Given the description of an element on the screen output the (x, y) to click on. 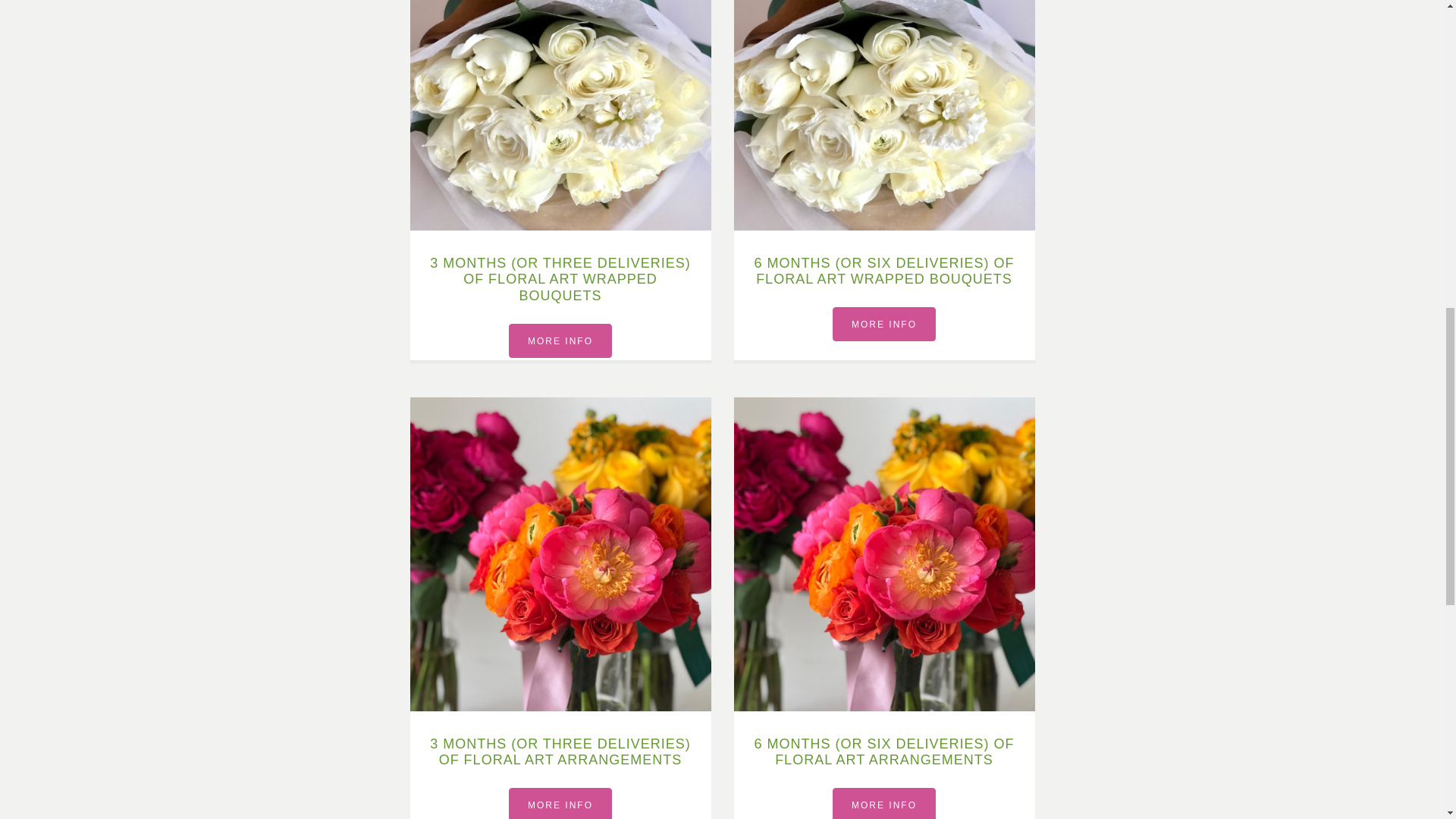
MORE INFO (884, 324)
Scroll back to top (1406, 720)
MORE INFO (559, 340)
MORE INFO (559, 803)
MORE INFO (884, 803)
